Given the description of an element on the screen output the (x, y) to click on. 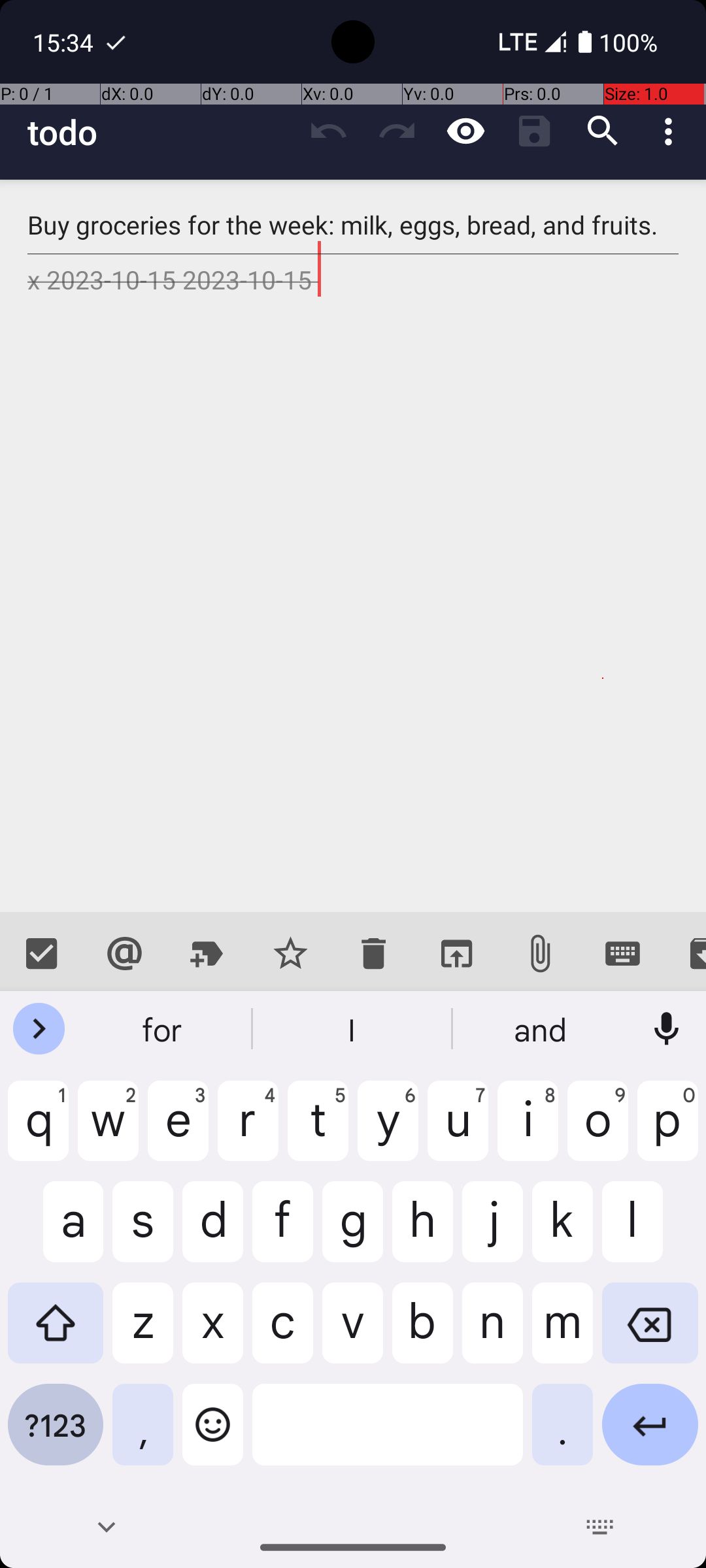
todo Element type: android.widget.TextView (160, 131)
Buy groceries for the week: milk, eggs, bread, and fruits.
x 2023-10-15 2023-10-15  Element type: android.widget.EditText (353, 545)
for Element type: android.widget.FrameLayout (163, 1028)
and Element type: android.widget.FrameLayout (541, 1028)
